Given the description of an element on the screen output the (x, y) to click on. 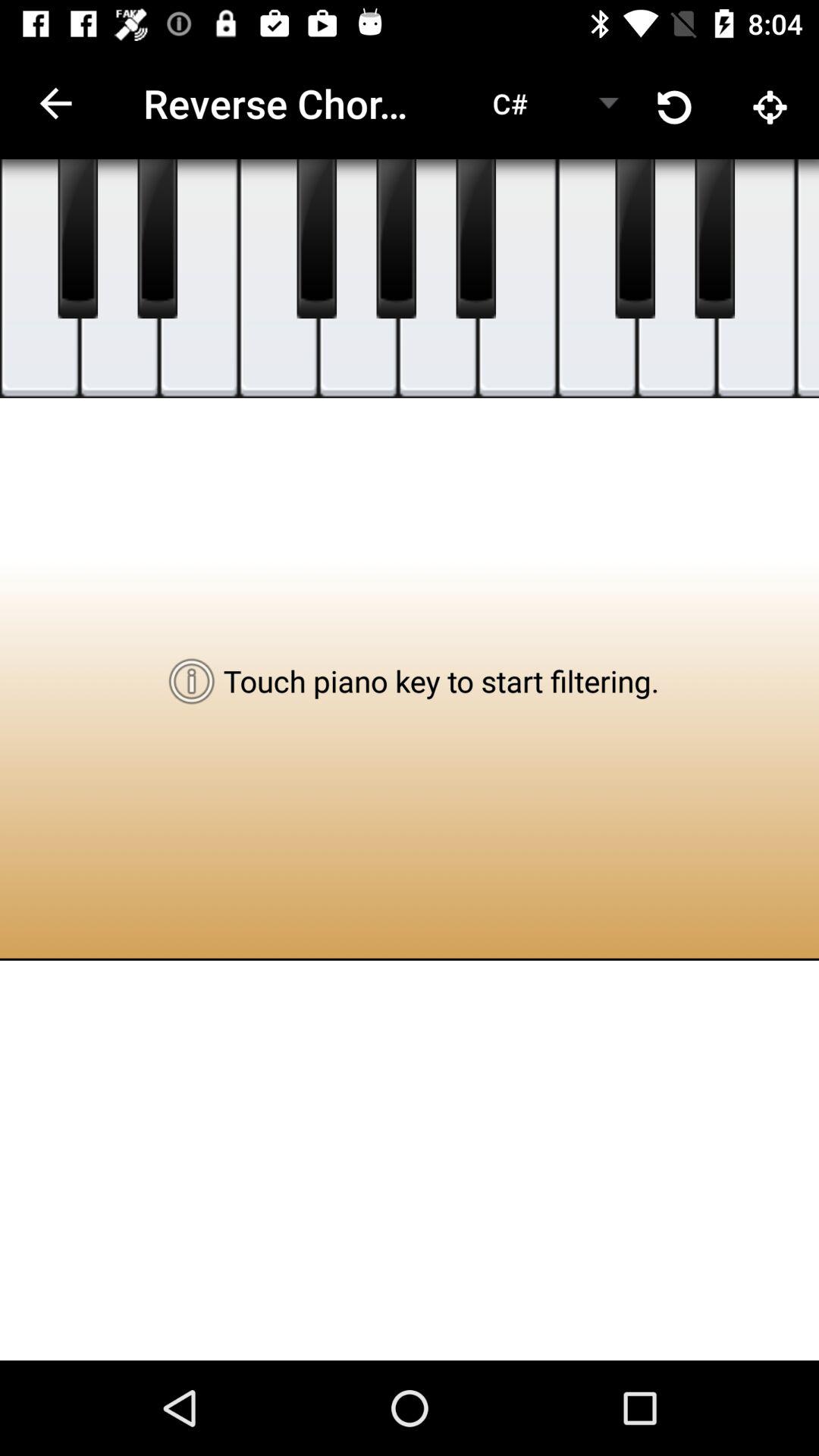
plays the piano key that is highlighted (278, 278)
